Given the description of an element on the screen output the (x, y) to click on. 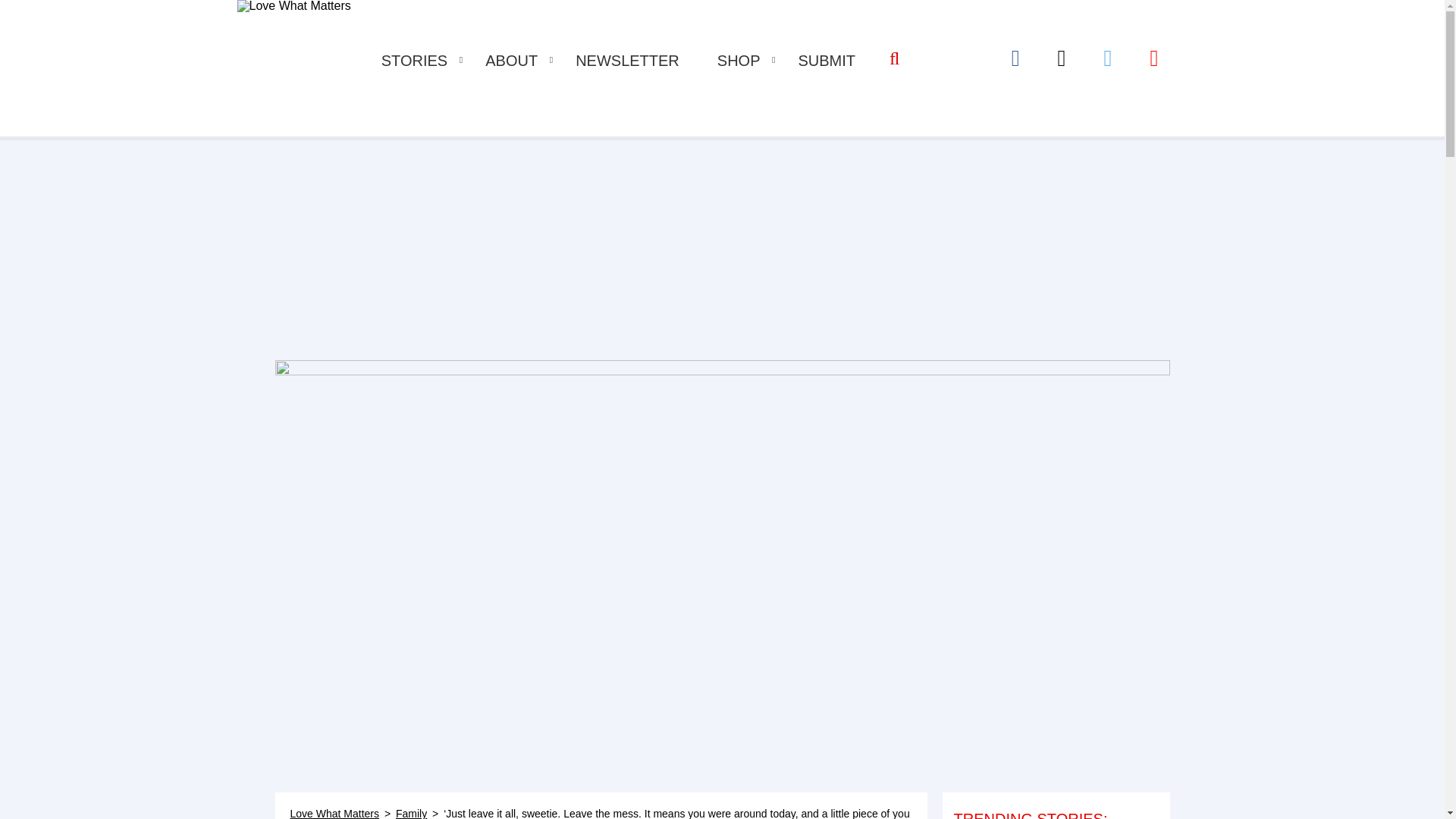
SHOP (738, 60)
SUBMIT (826, 60)
ABOUT (511, 60)
NEWSLETTER (627, 60)
STORIES (414, 60)
